Given the description of an element on the screen output the (x, y) to click on. 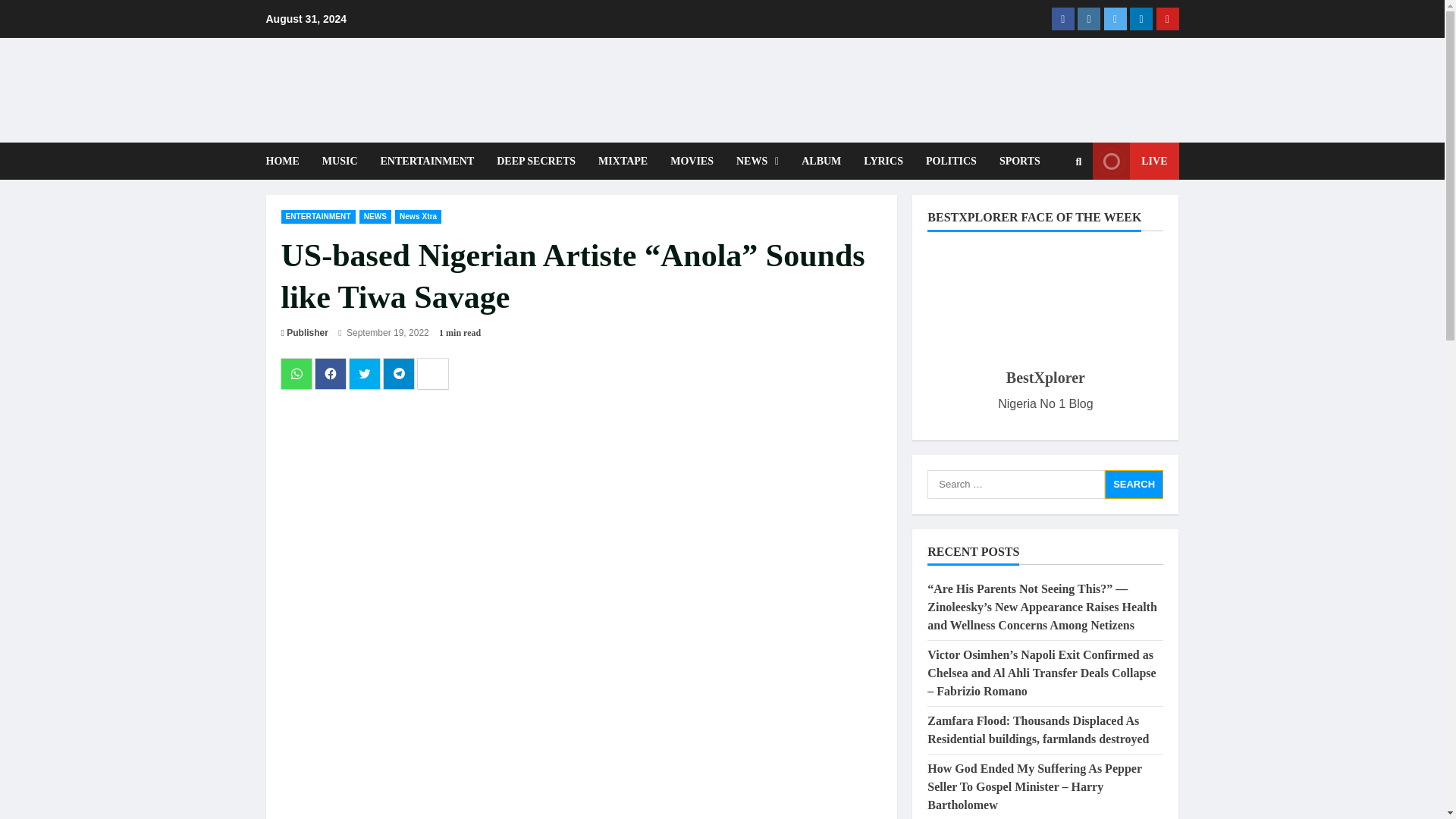
ENTERTAINMENT (427, 160)
MOVIES (692, 160)
Click to share on Telegram (398, 373)
Click to share on WhatsApp (296, 373)
POLITICS (951, 160)
SPORTS (1014, 160)
News Xtra (417, 216)
LYRICS (882, 160)
NEWS (757, 160)
Click to share on Twitter (363, 373)
